Given the description of an element on the screen output the (x, y) to click on. 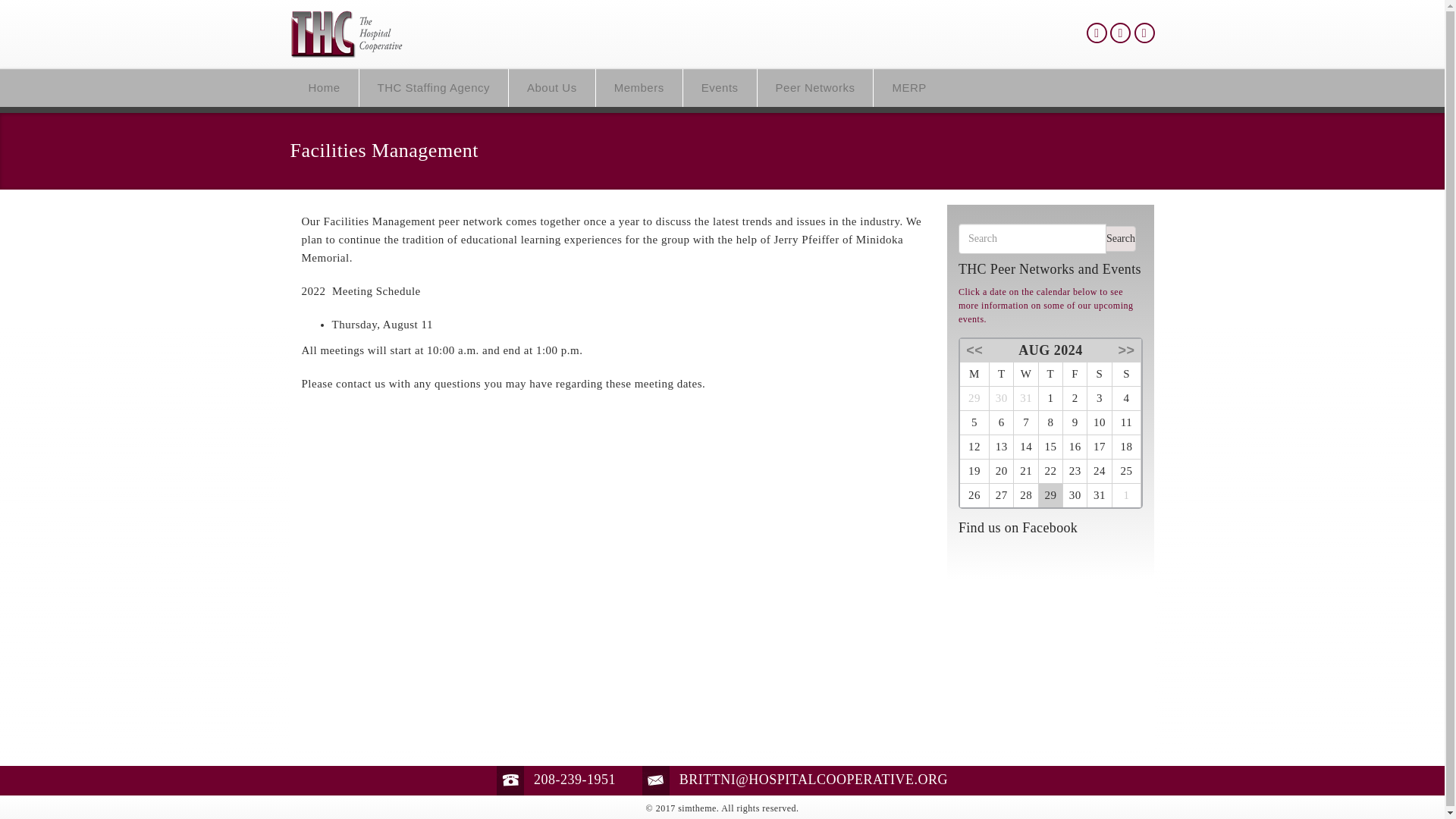
About Us (551, 87)
Events (719, 87)
Peer Networks (815, 87)
Search (1120, 238)
MERP (908, 87)
Members (638, 87)
Home (323, 87)
THC Staffing Agency (433, 87)
